Given the description of an element on the screen output the (x, y) to click on. 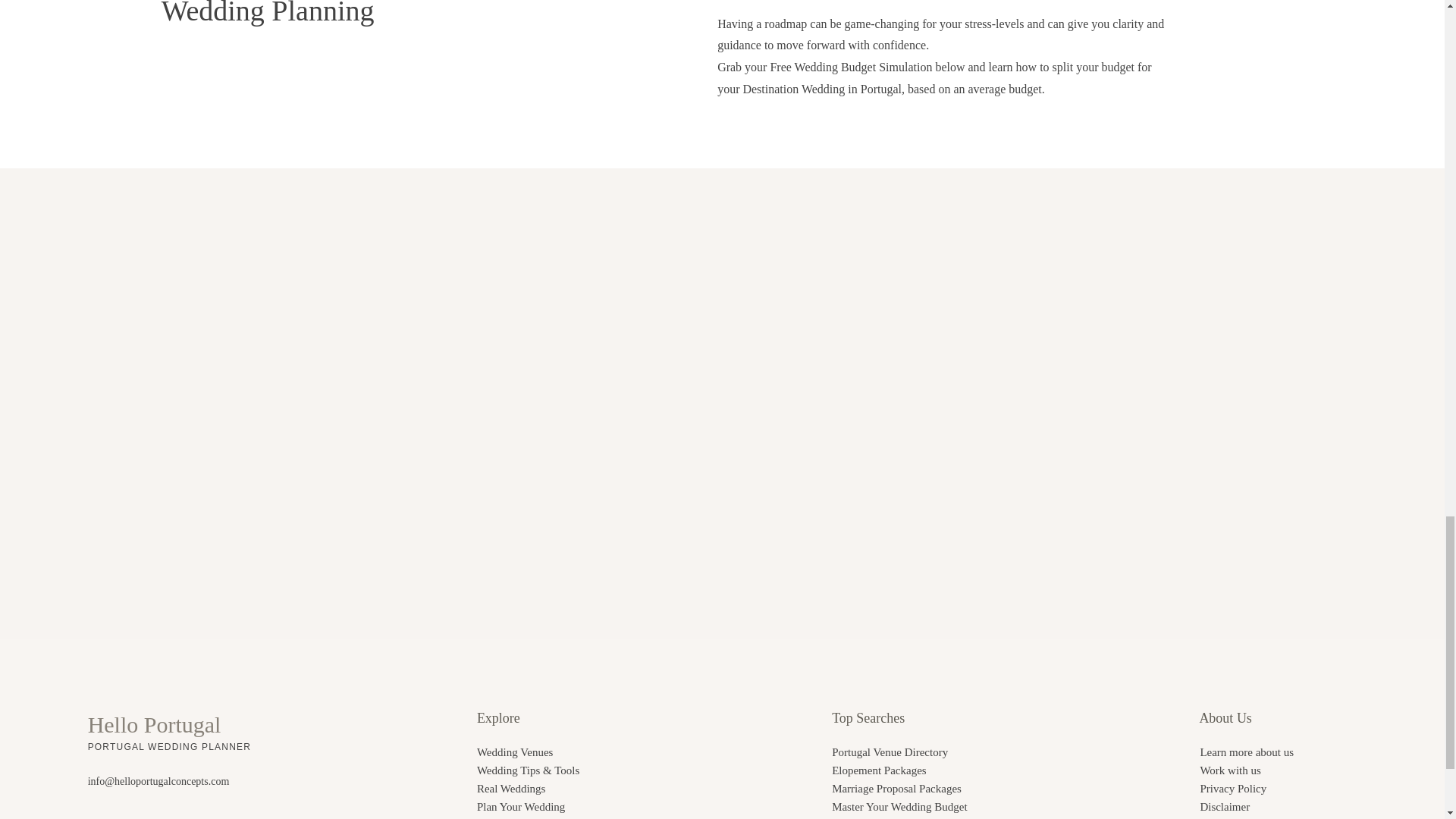
Top Searches (867, 717)
Portugal Venue Directory (889, 752)
Wedding Venues (515, 752)
Real Weddings (511, 788)
Explore (498, 717)
Plan Your Wedding (520, 806)
